Given the description of an element on the screen output the (x, y) to click on. 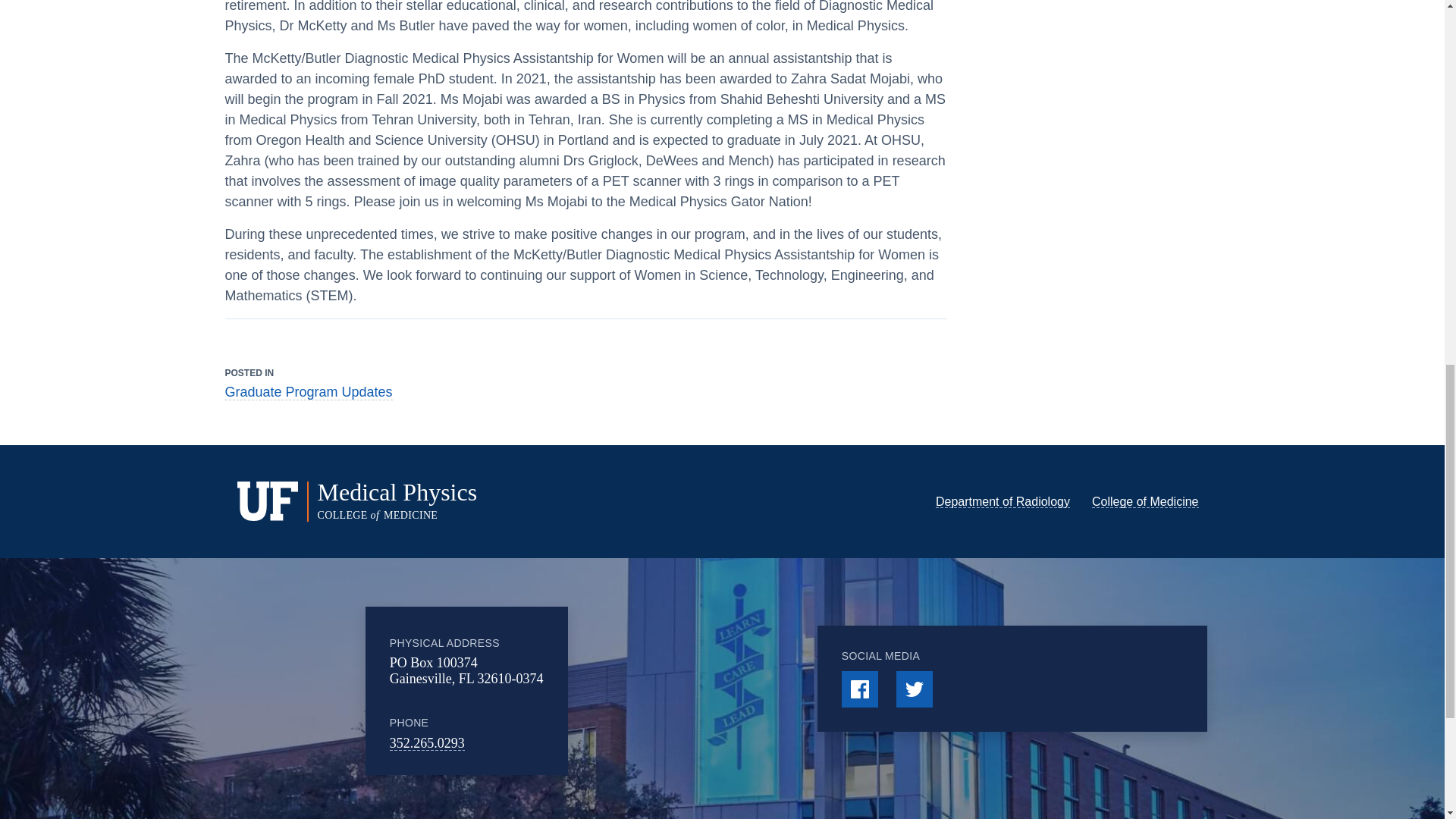
Department of Radiology (1003, 501)
352.265.0293 (427, 743)
College of Medicine (1145, 501)
